Given the description of an element on the screen output the (x, y) to click on. 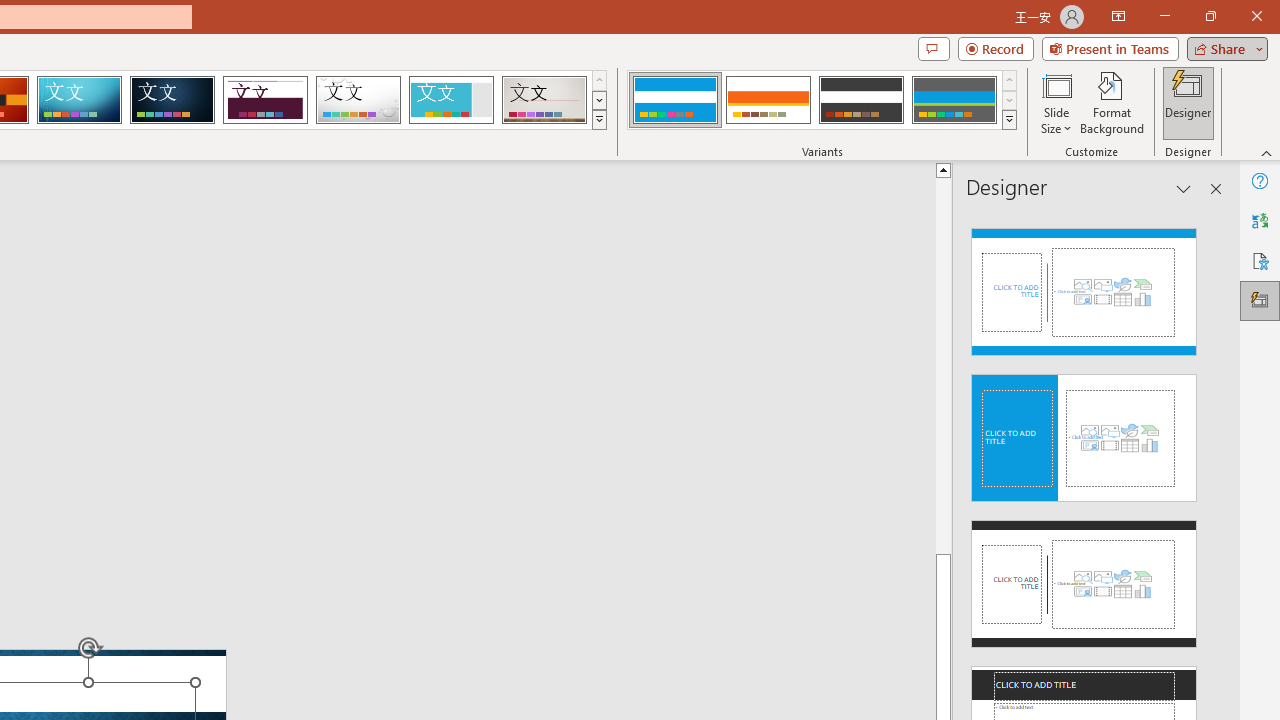
Droplet (358, 100)
Banded Variant 3 (861, 100)
Themes (598, 120)
Format Background (1111, 102)
